Given the description of an element on the screen output the (x, y) to click on. 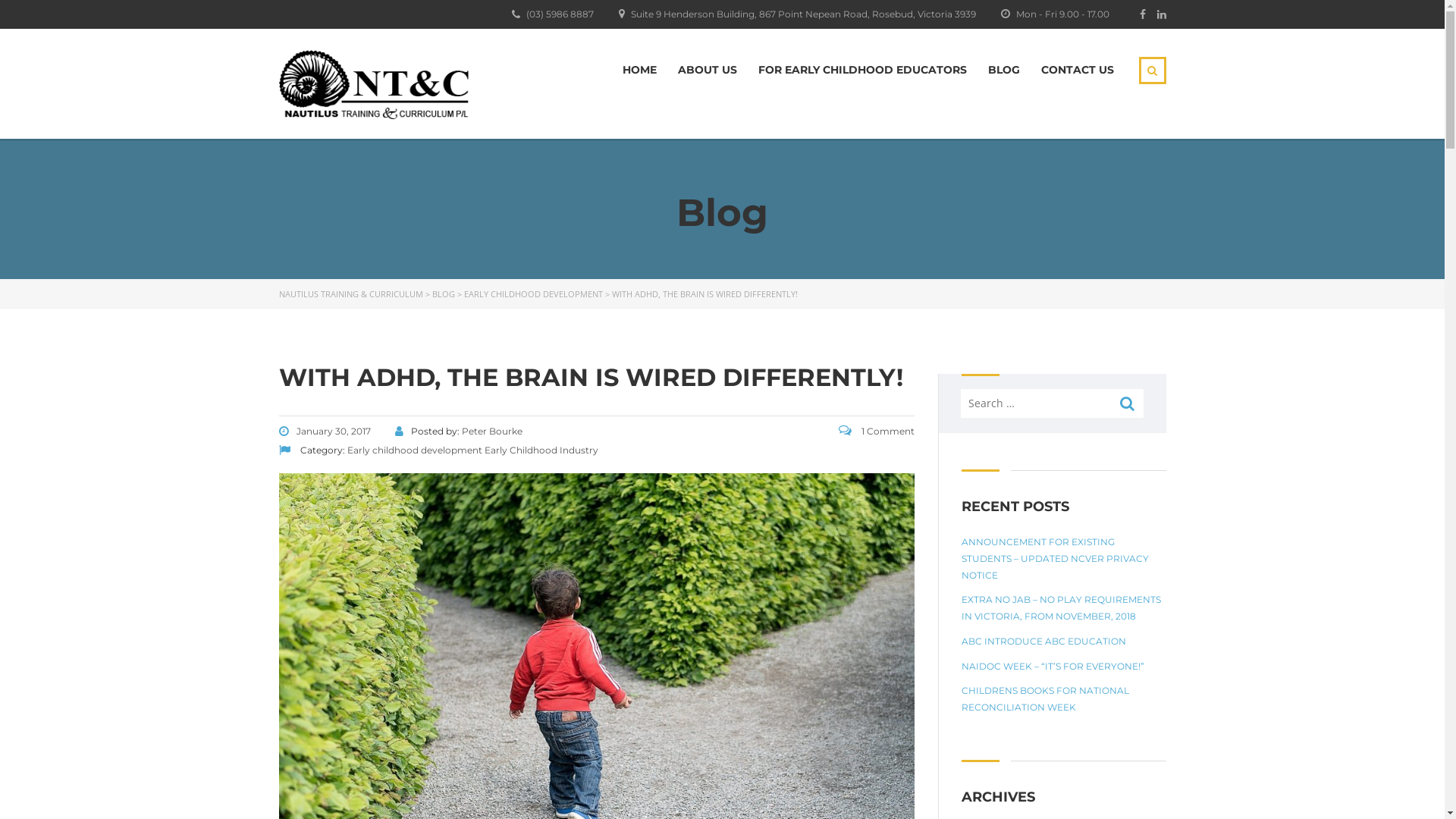
Customer Satisfaction & Compliance Element type: text (386, 501)
FOR EARLY CHILDHOOD EDUCATORS Element type: text (862, 69)
Early childhood development Element type: text (414, 449)
First Aid training Element type: text (343, 654)
CHILDRENS BOOKS FOR NATIONAL RECONCILIATION WEEK Element type: text (1063, 698)
Blog Element type: text (303, 677)
1 Comment Element type: text (876, 430)
About Us Element type: text (313, 437)
Policies and Processes Element type: text (356, 548)
ABOUT US Element type: text (829, 787)
ABC INTRODUCE ABC EDUCATION Element type: text (1043, 641)
Home Element type: text (307, 413)
Search Element type: text (1127, 403)
NAUTILUS TRAINING & CURRICULUM Element type: text (351, 293)
For Early Childhood Educators Element type: text (357, 572)
Accredited Early Childhood Educator Training Element type: text (386, 598)
ian@nautilustraining.com.au Element type: text (600, 507)
HOME Element type: text (638, 69)
FOR EARLY CHILDHOOD EDUCATORS Element type: text (958, 787)
BLOG Element type: text (443, 293)
Employment Opportunities Element type: text (365, 525)
EARLY CHILDHOOD DEVELOPMENT Element type: text (533, 293)
Contact Us Element type: text (317, 701)
BLOG Element type: text (1076, 787)
HOME Element type: text (774, 787)
Testimonials Element type: text (336, 478)
Staff Stories Element type: text (334, 454)
CONTACT US Element type: text (1134, 787)
CONTACT US Element type: text (1076, 69)
BLOG Element type: text (1003, 69)
ABOUT US Element type: text (707, 69)
Early Childhood Industry Element type: text (540, 449)
